Given the description of an element on the screen output the (x, y) to click on. 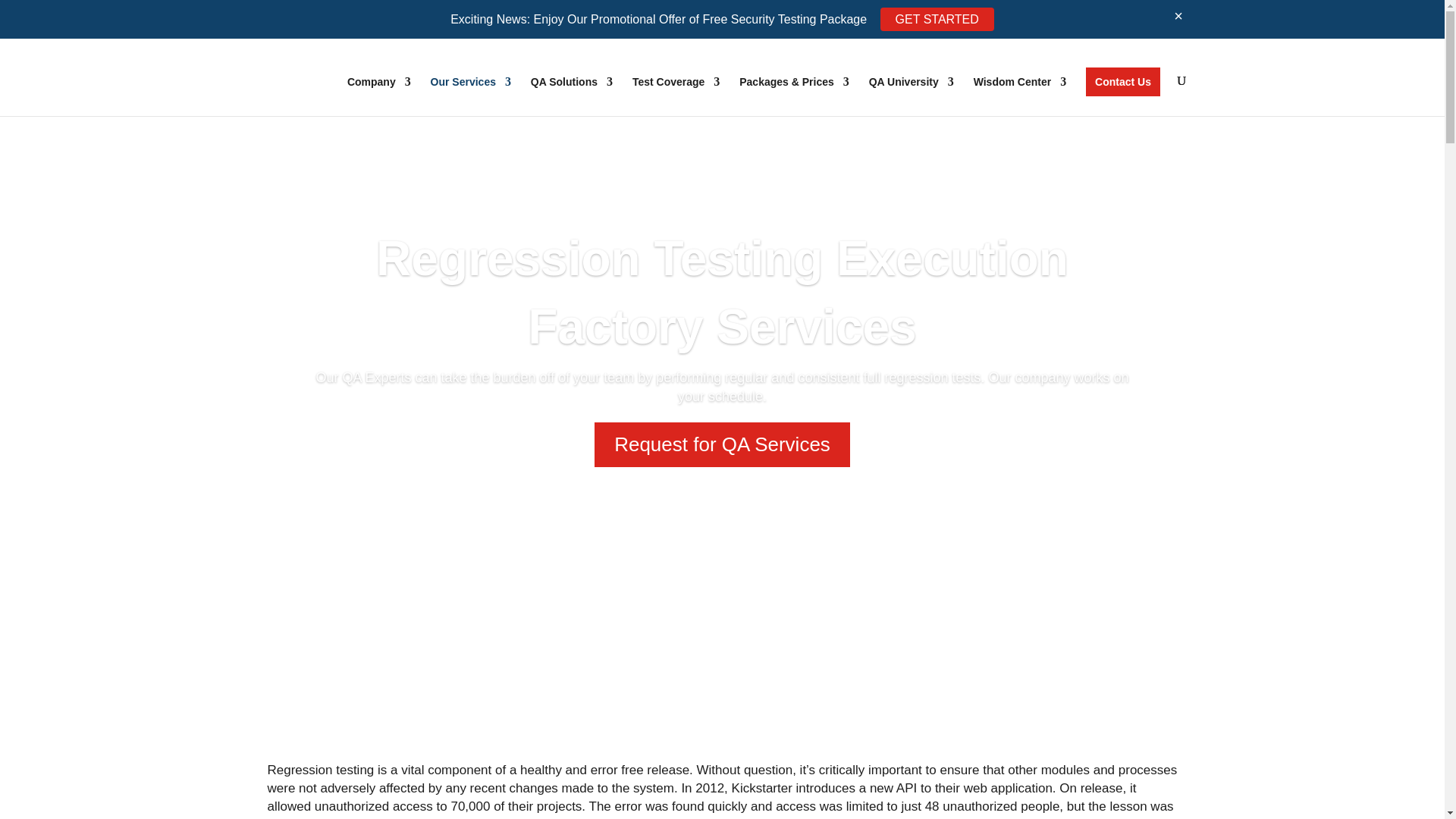
GET STARTED (937, 19)
Our Services (470, 96)
Company (378, 96)
